Given the description of an element on the screen output the (x, y) to click on. 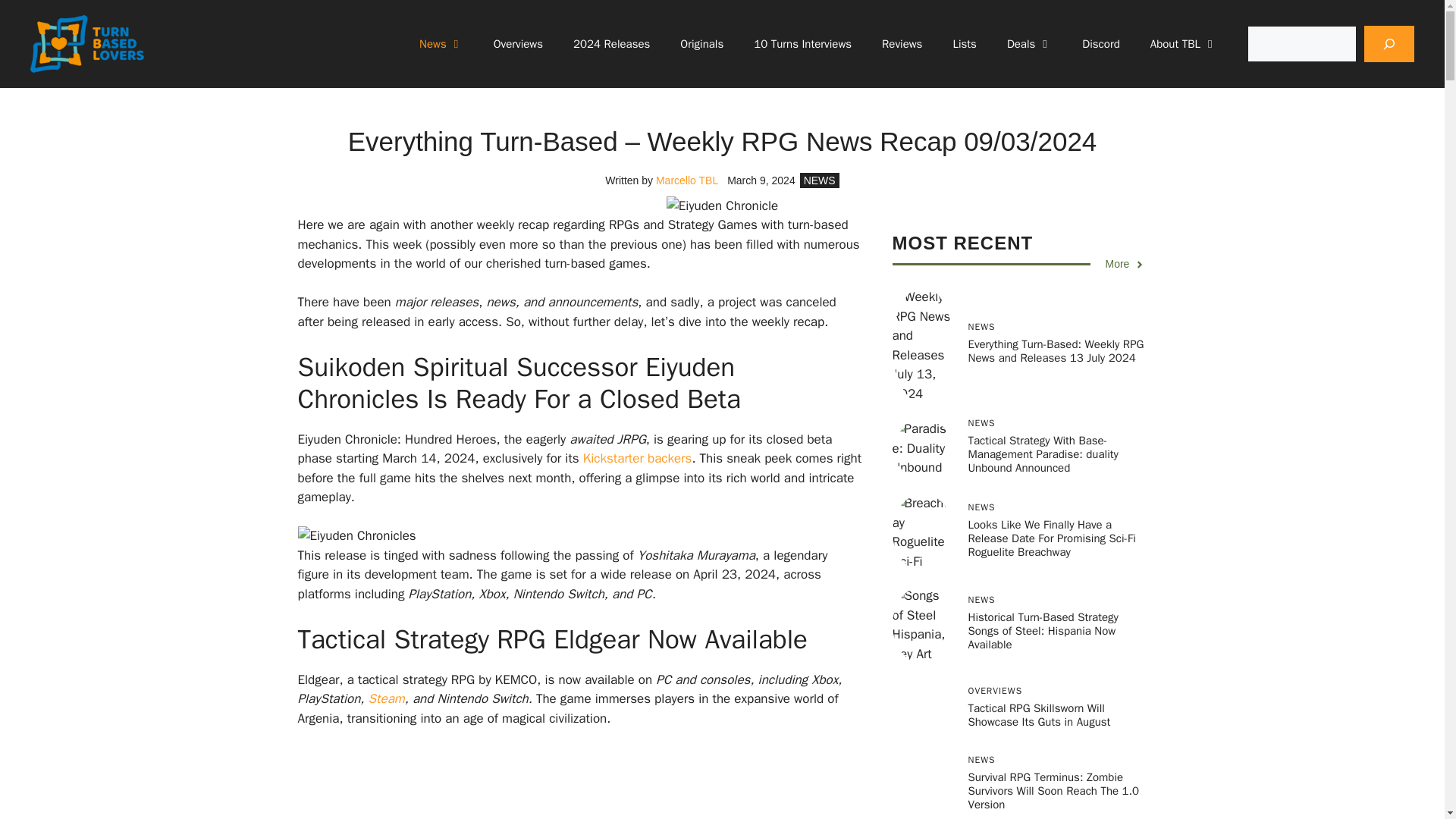
Reviews (901, 43)
Steam (386, 698)
About TBL (1183, 43)
Kickstarter backers (638, 458)
Deals (1029, 43)
Discord (1100, 43)
2024 Releases (611, 43)
News (441, 43)
Overviews (518, 43)
10 Turns Interviews (802, 43)
NEWS (819, 180)
Originals (701, 43)
Lists (964, 43)
Marcello TBL (686, 180)
